Given the description of an element on the screen output the (x, y) to click on. 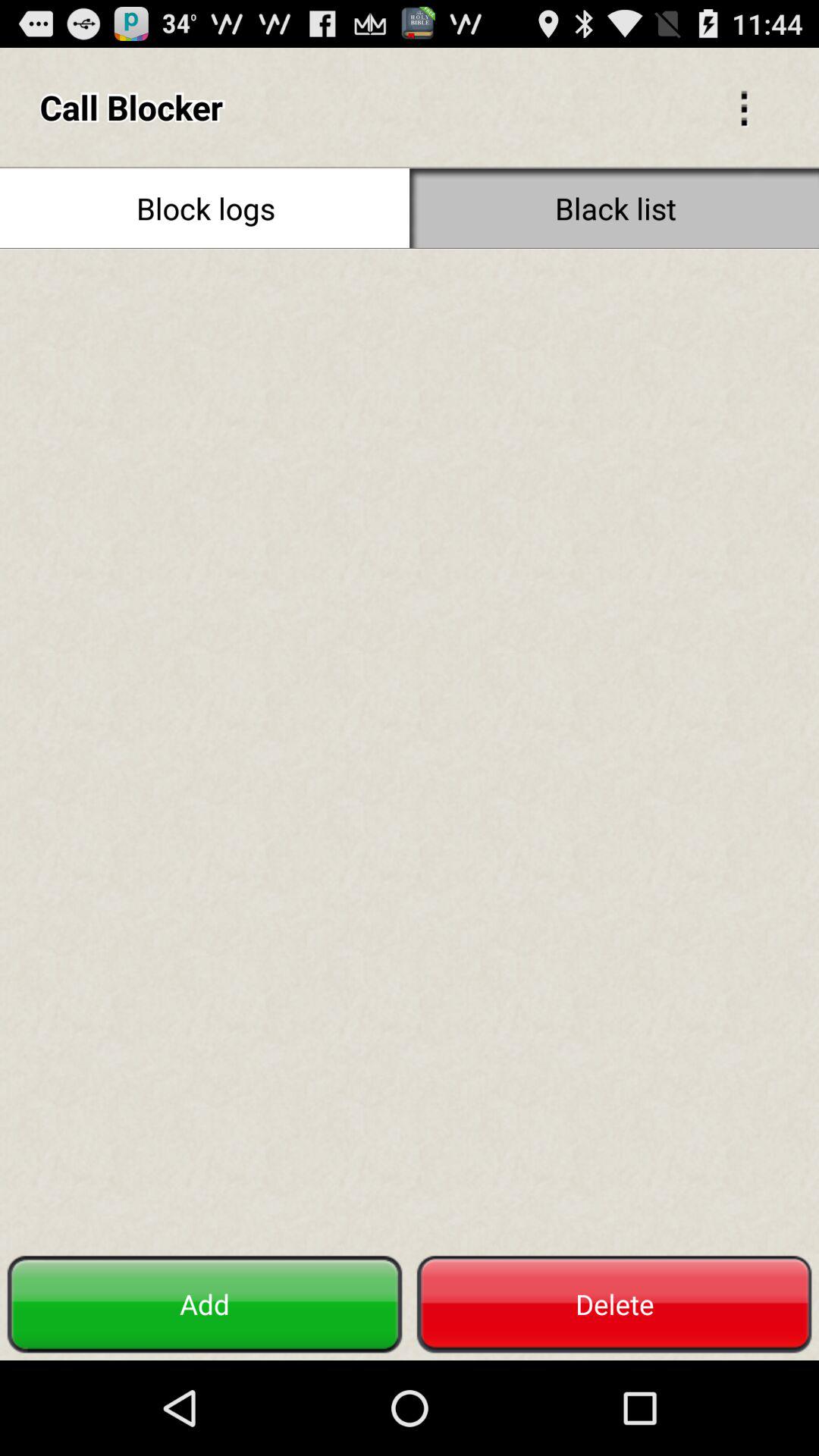
scroll until the delete icon (613, 1304)
